Given the description of an element on the screen output the (x, y) to click on. 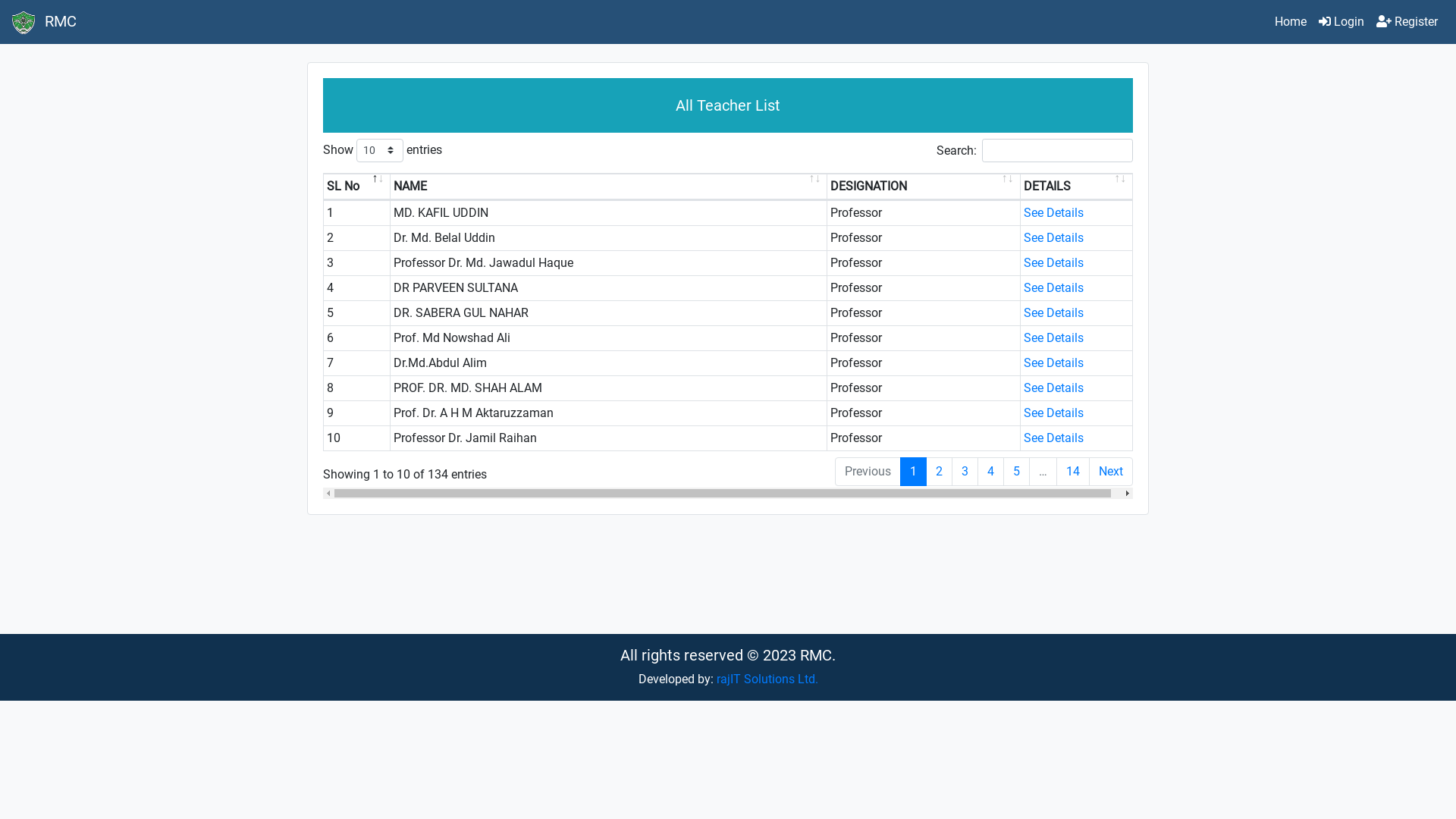
See Details Element type: text (1053, 387)
rajIT Solutions Ltd. Element type: text (766, 678)
2 Element type: text (938, 471)
See Details Element type: text (1053, 312)
See Details Element type: text (1053, 362)
Previous Element type: text (867, 471)
14 Element type: text (1072, 471)
1 Element type: text (913, 471)
See Details Element type: text (1053, 262)
RMC Element type: text (44, 21)
Register Element type: text (1406, 21)
See Details Element type: text (1053, 412)
See Details Element type: text (1053, 287)
4 Element type: text (990, 471)
Home Element type: text (1290, 21)
See Details Element type: text (1053, 237)
Next Element type: text (1110, 471)
See Details Element type: text (1053, 337)
5 Element type: text (1016, 471)
Login Element type: text (1341, 21)
3 Element type: text (964, 471)
See Details Element type: text (1053, 437)
See Details Element type: text (1053, 212)
